Given the description of an element on the screen output the (x, y) to click on. 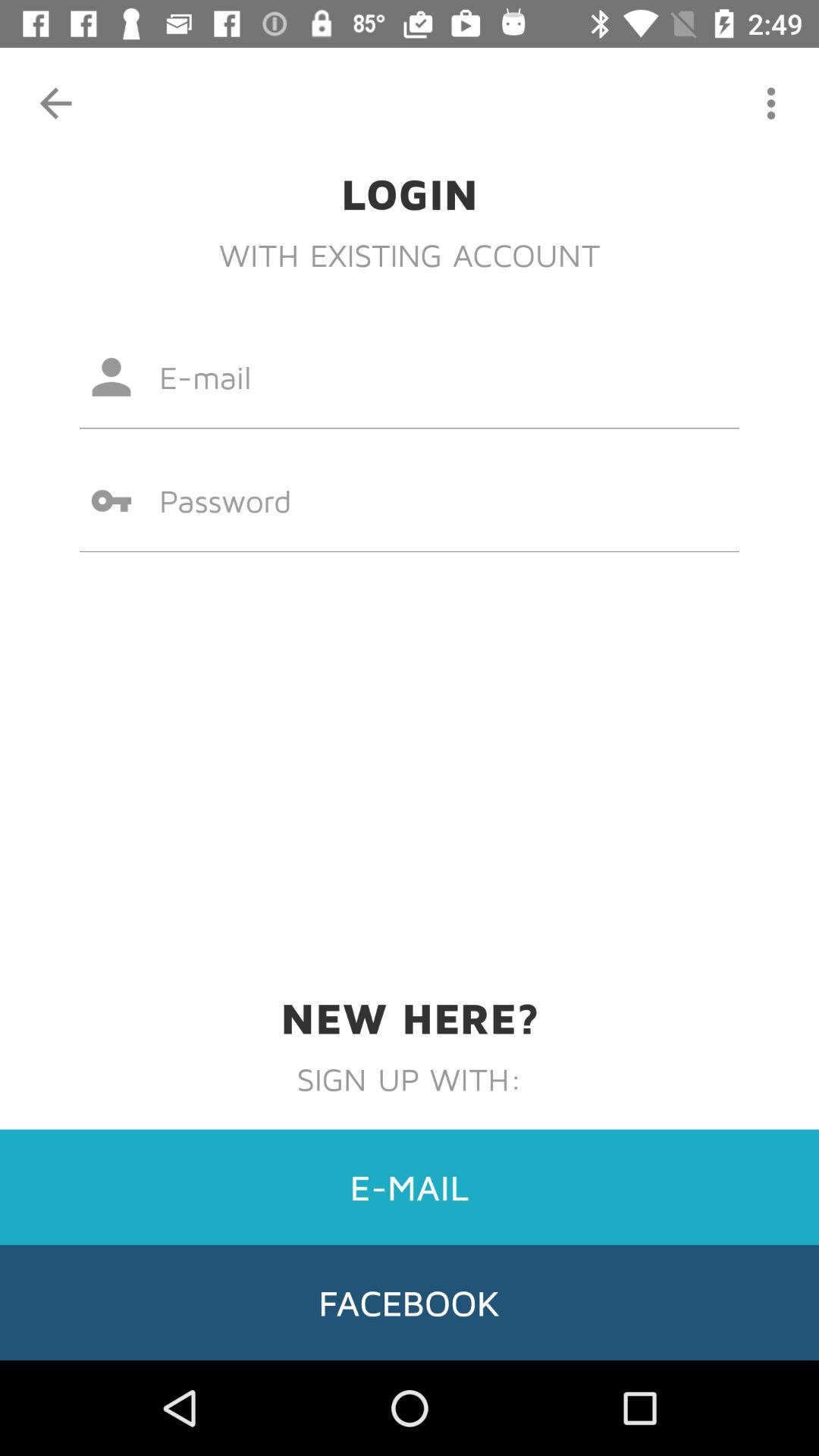
enter password (409, 500)
